Given the description of an element on the screen output the (x, y) to click on. 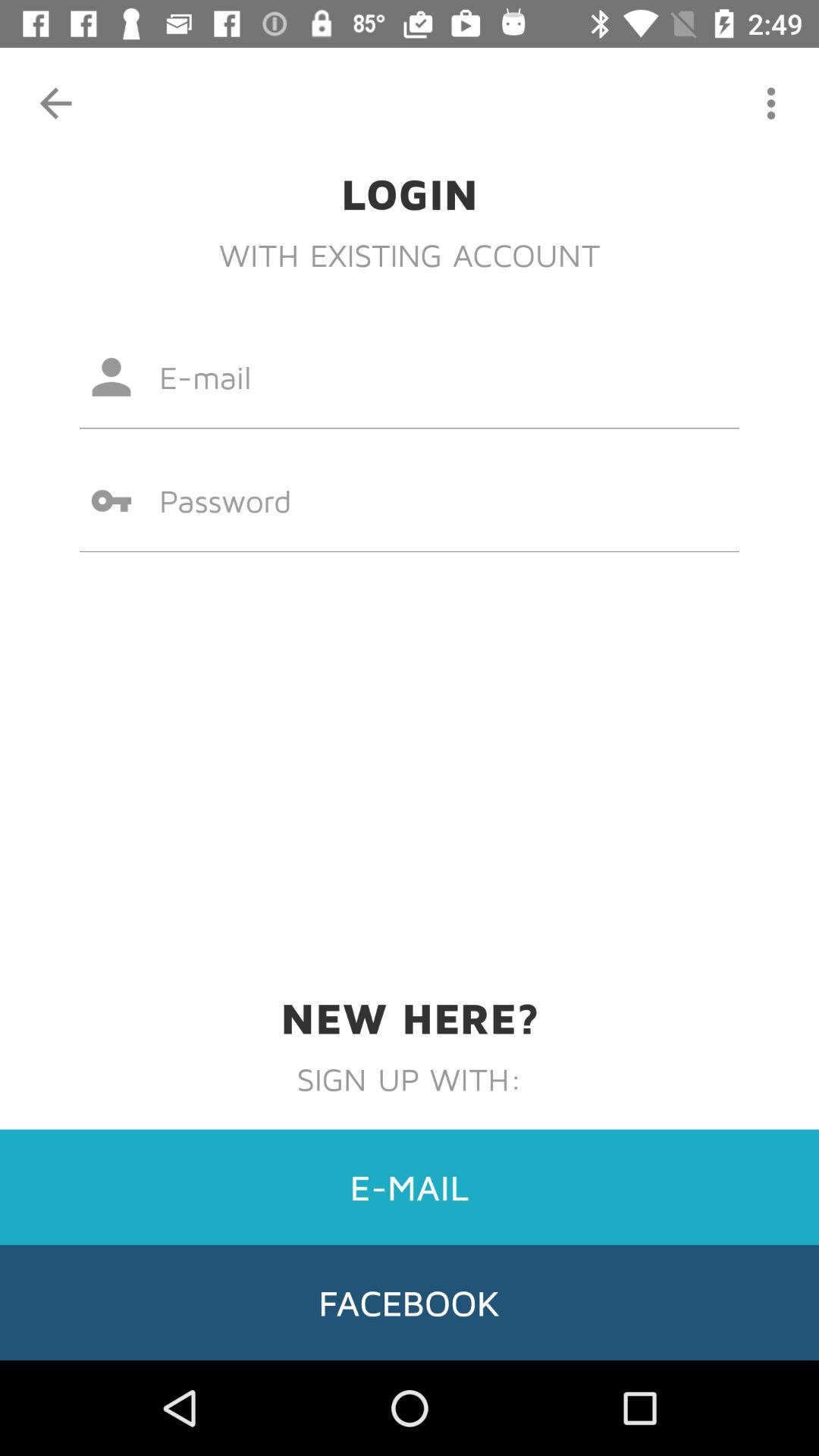
enter password (409, 500)
